Given the description of an element on the screen output the (x, y) to click on. 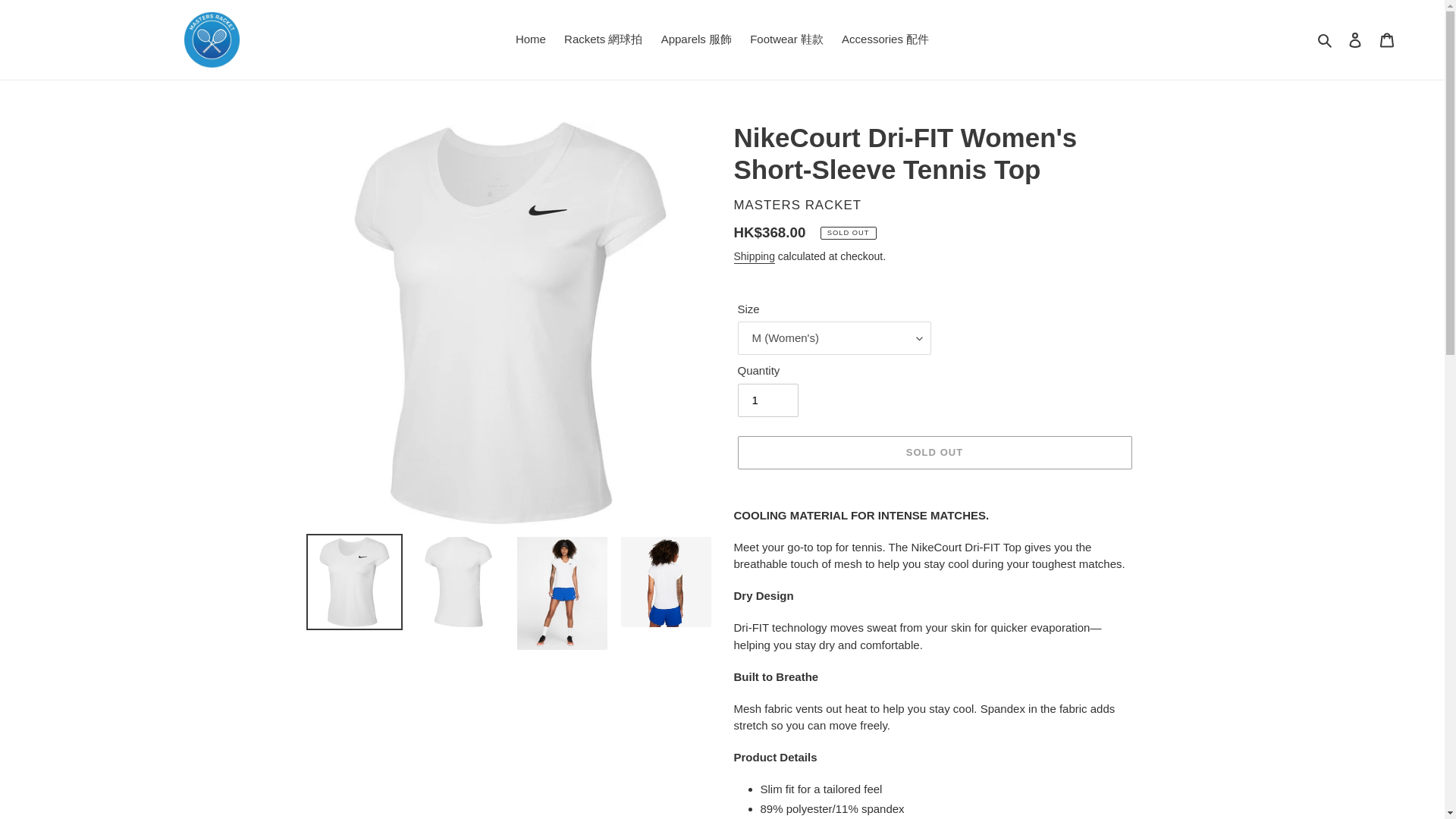
Cart (1387, 39)
SOLD OUT (933, 452)
Shipping (753, 256)
1 (766, 400)
Log in (1355, 39)
Search (1326, 39)
Home (530, 39)
